Given the description of an element on the screen output the (x, y) to click on. 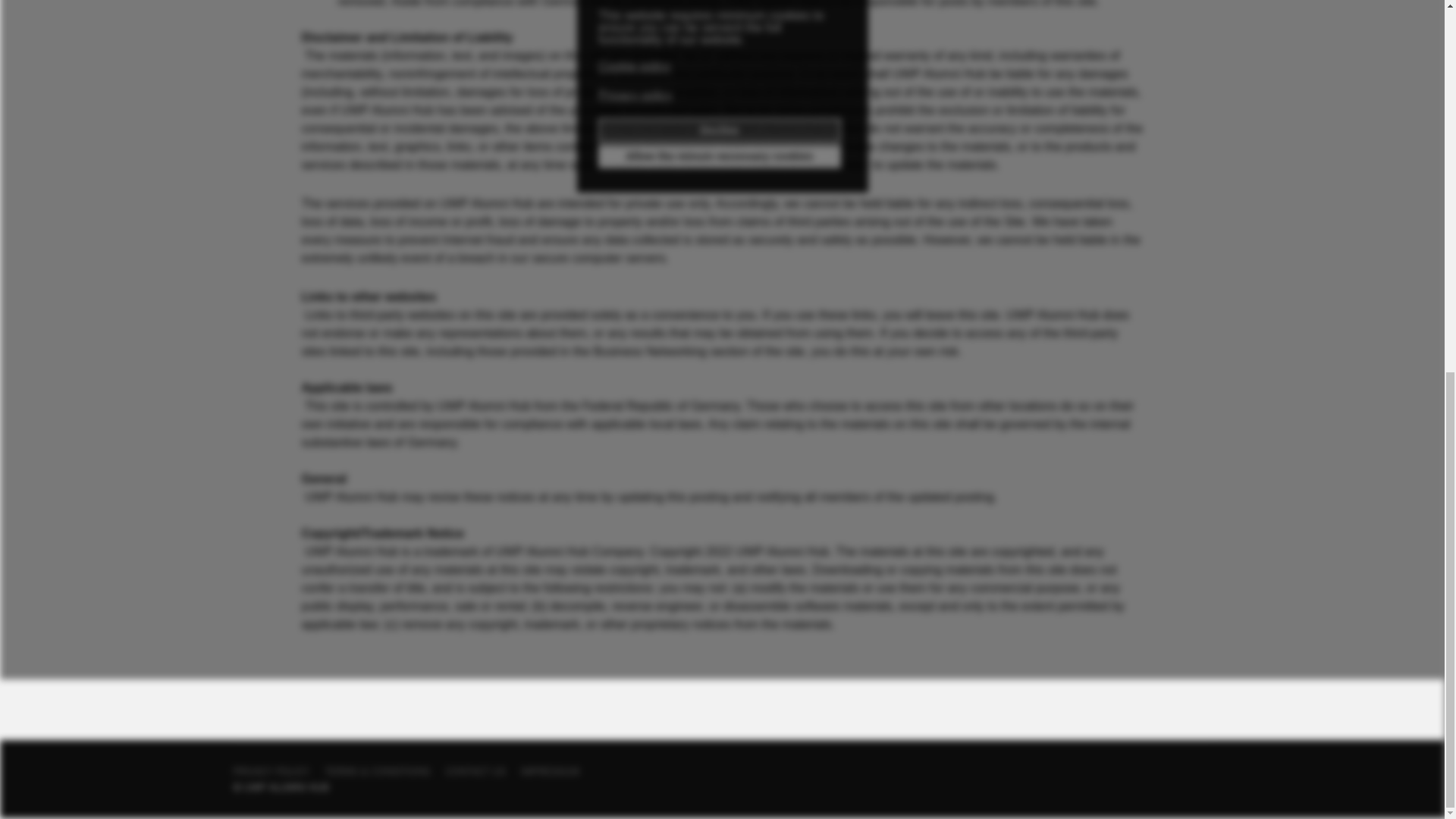
IMPRESSUM (550, 771)
PRIVACY POLICY (271, 771)
Decline (719, 129)
CONTACT US (475, 771)
Cookie policy (635, 66)
Allow the minum necessary cookies (719, 156)
Privacy policy (636, 95)
